Given the description of an element on the screen output the (x, y) to click on. 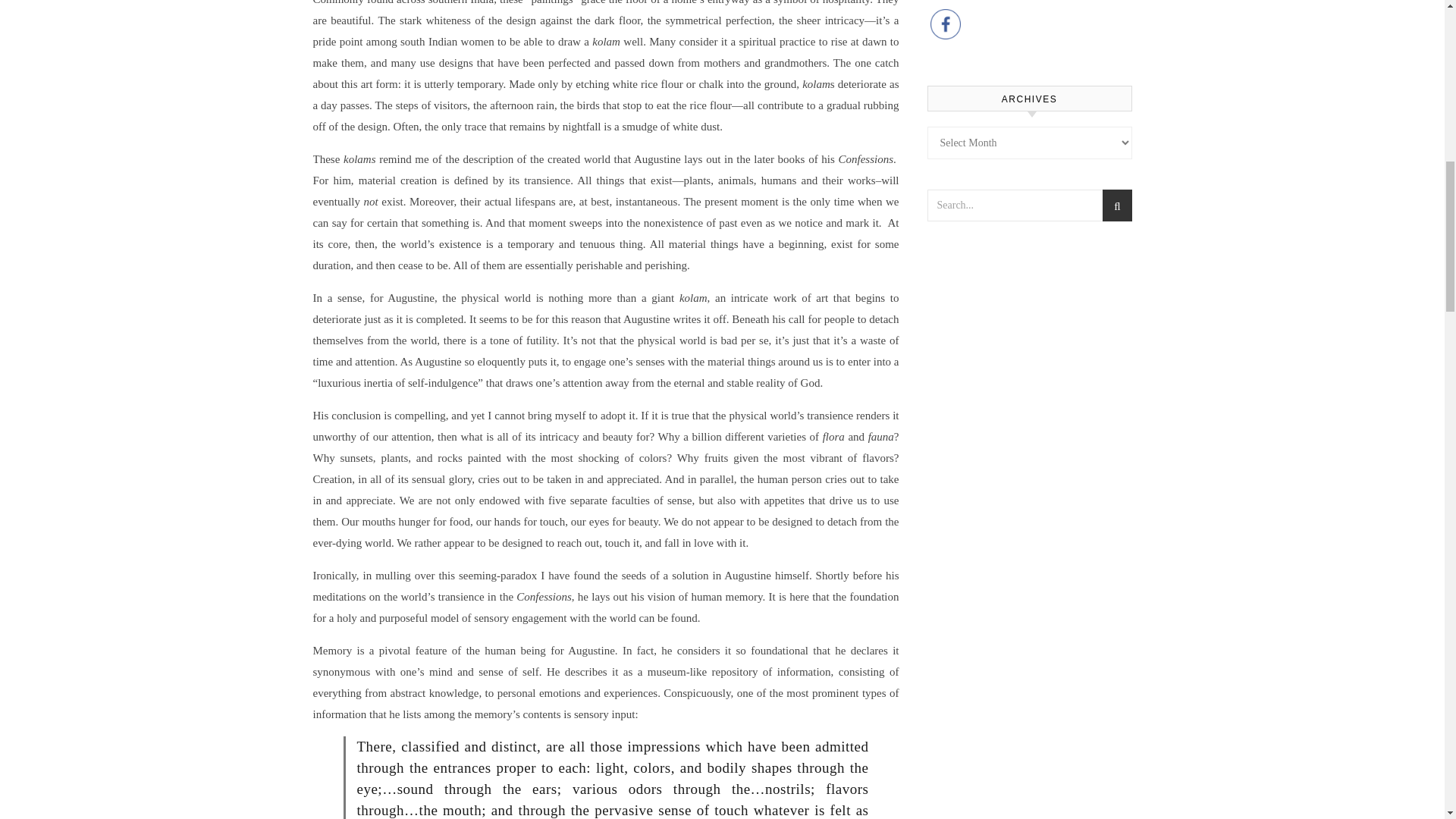
Facebook (944, 24)
